Given the description of an element on the screen output the (x, y) to click on. 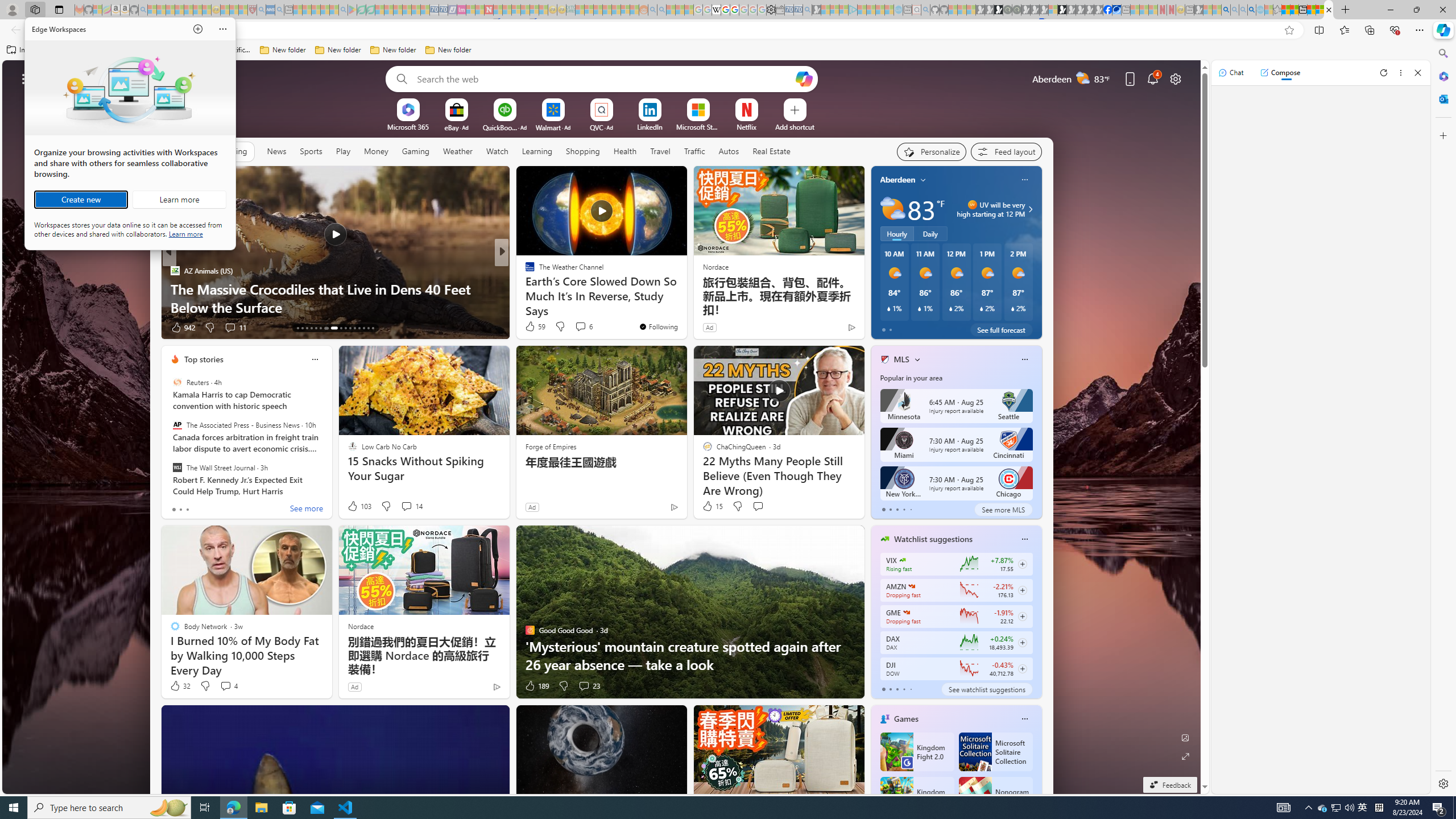
Partly sunny (892, 208)
